Given the description of an element on the screen output the (x, y) to click on. 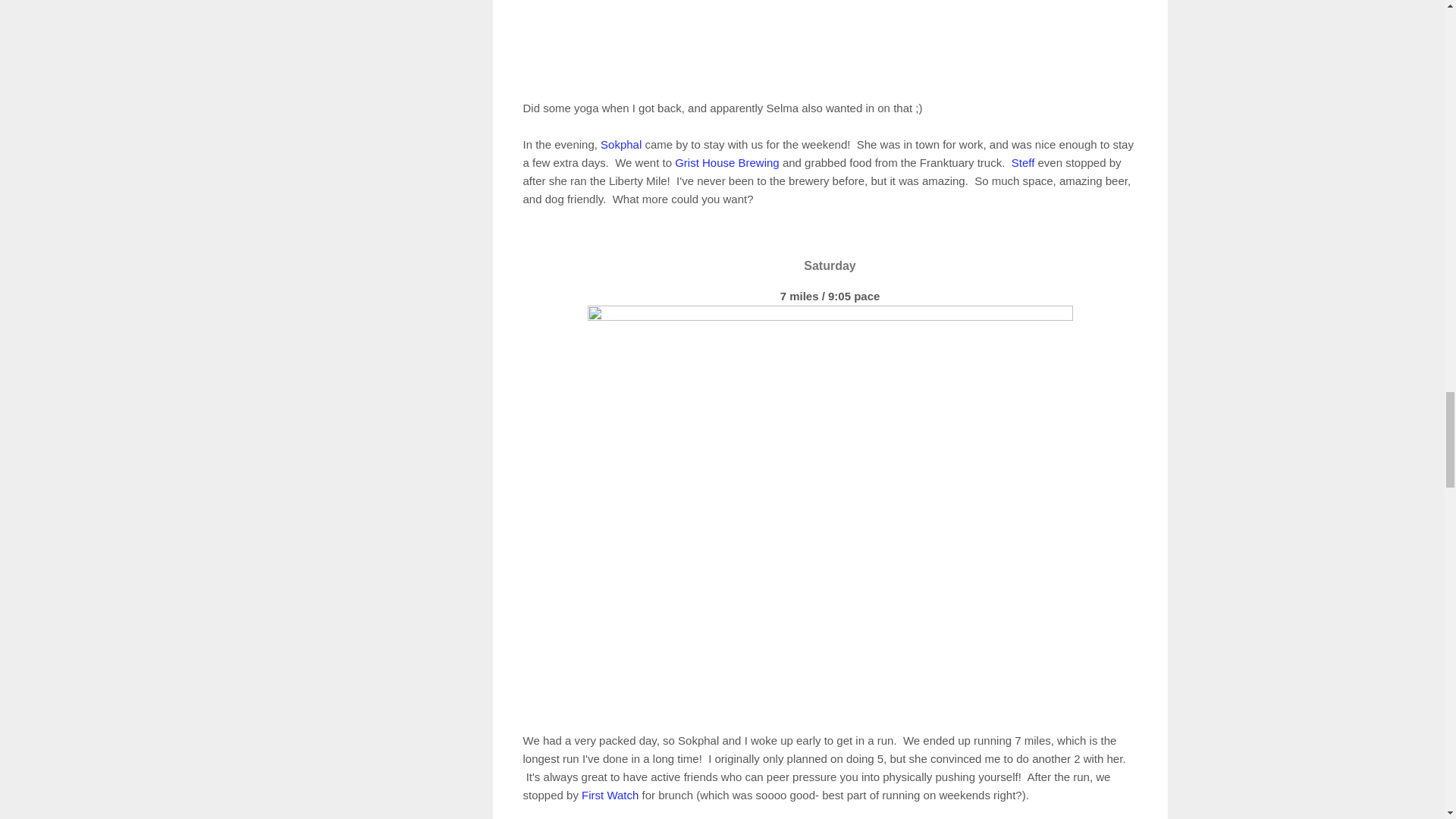
Grist House Brewing (726, 162)
Sokphal (620, 144)
Steff (1023, 162)
First Watch (609, 794)
